Given the description of an element on the screen output the (x, y) to click on. 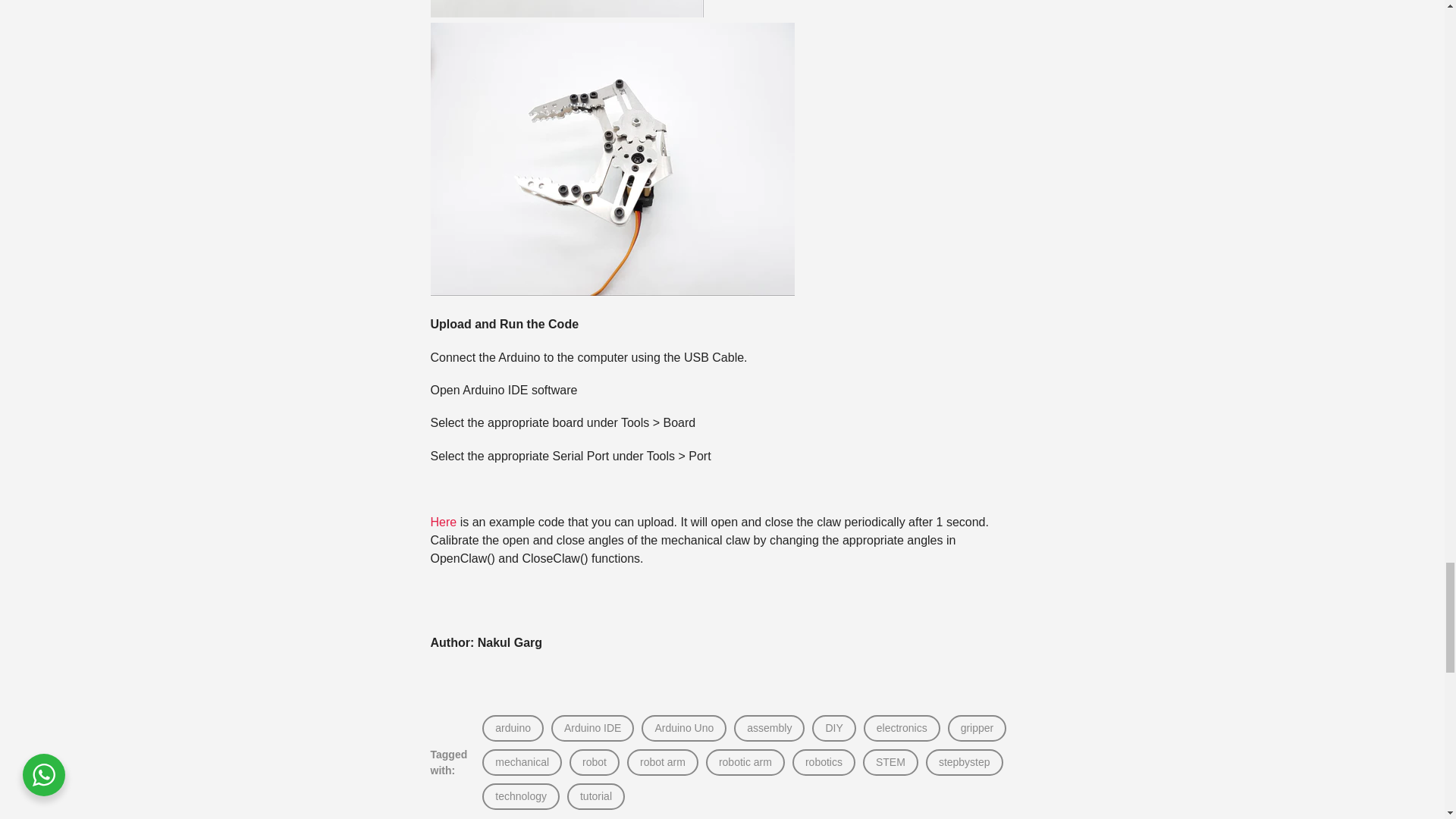
Show articles tagged robot arm (662, 762)
Show articles tagged robotics (824, 762)
Show articles tagged arduino (513, 728)
Show articles tagged tutorial (595, 796)
Show articles tagged DIY (834, 728)
Show articles tagged Arduino Uno (683, 728)
Show articles tagged electronics (901, 728)
Show articles tagged assembly (769, 728)
Show articles tagged technology (521, 796)
Show articles tagged stepbystep (964, 762)
